Given the description of an element on the screen output the (x, y) to click on. 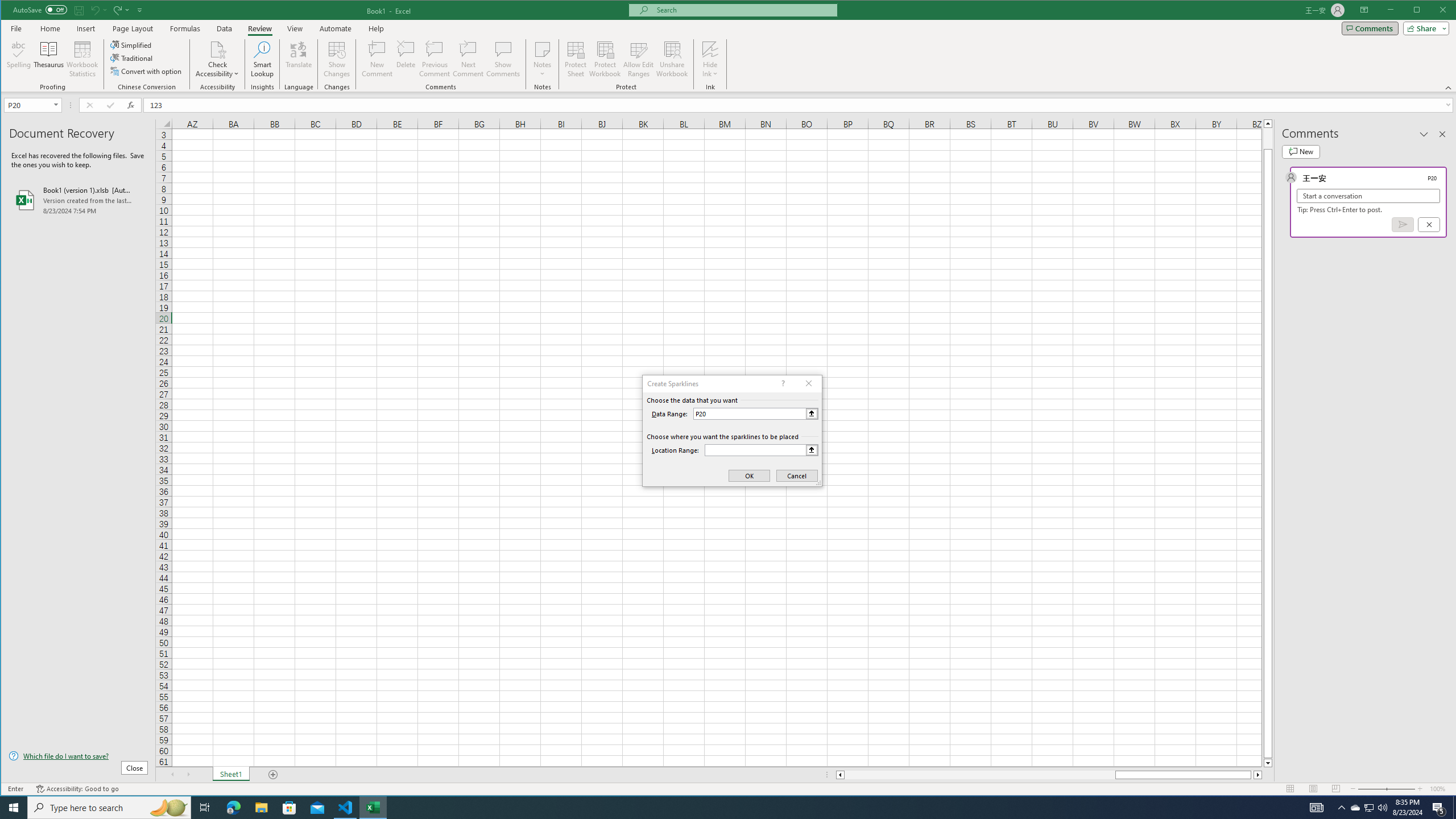
New Comment (377, 59)
Protect Workbook... (604, 59)
Convert with option (146, 70)
Previous Comment (434, 59)
